Given the description of an element on the screen output the (x, y) to click on. 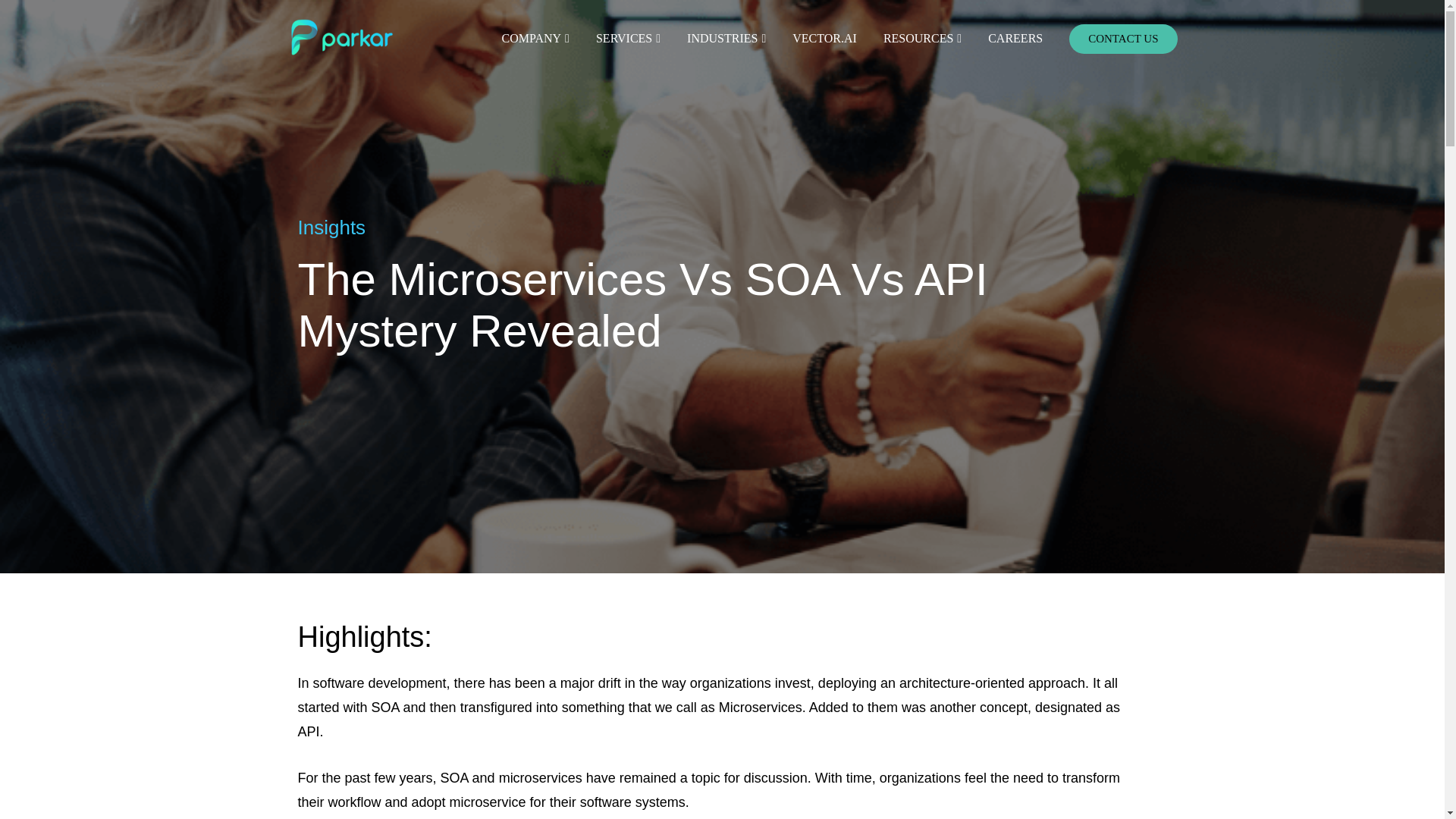
COMPANY (527, 38)
SERVICES (620, 38)
INDUSTRIES (718, 38)
